Given the description of an element on the screen output the (x, y) to click on. 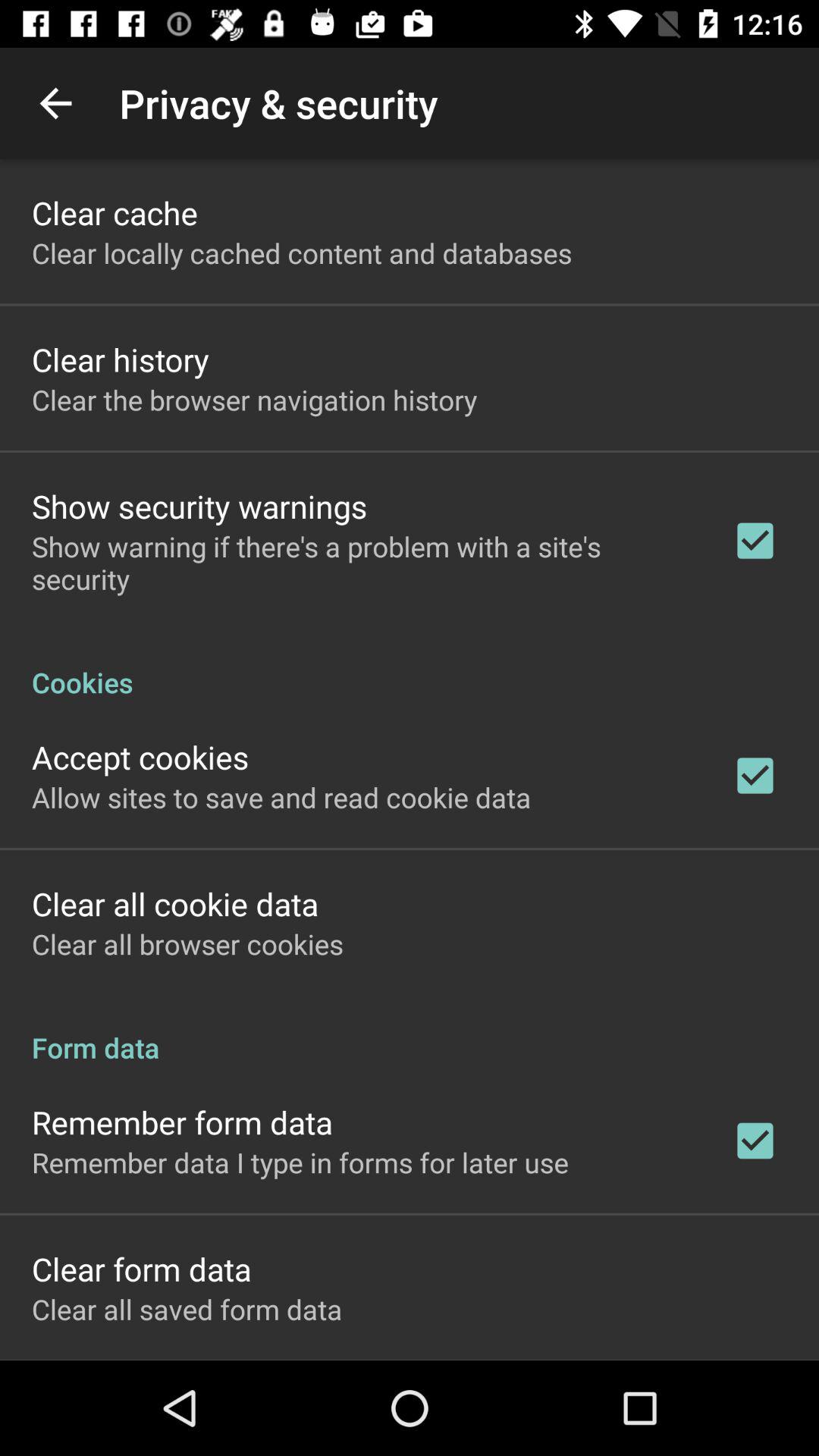
turn off the item above clear locally cached item (114, 212)
